Given the description of an element on the screen output the (x, y) to click on. 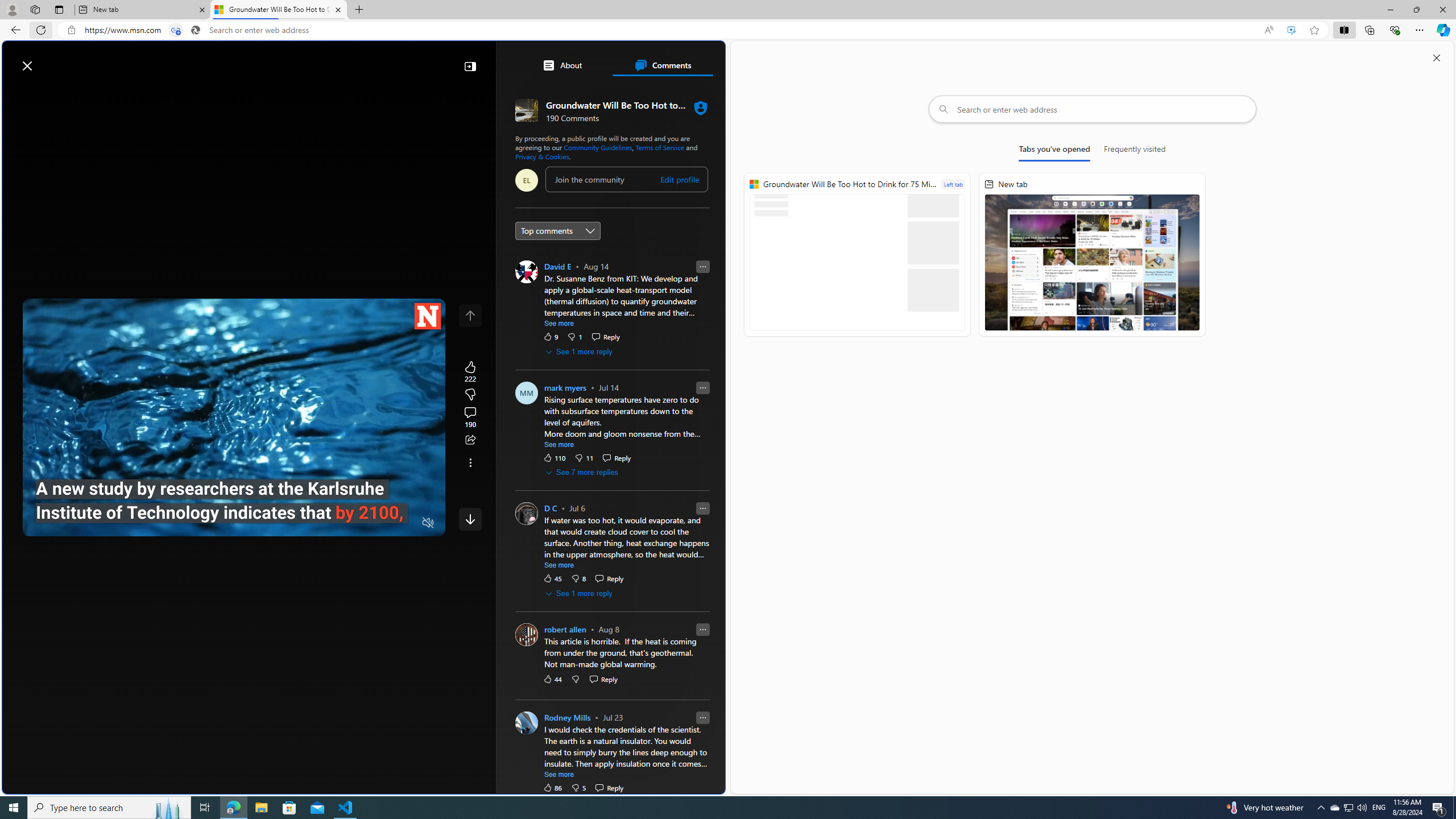
About (561, 64)
Enter your search term (366, 59)
Comments (662, 64)
More like this222Fewer like thisView comments (469, 394)
Edit profile (679, 179)
Progress Bar (234, 508)
44 Like (552, 678)
robert allen (564, 629)
